Given the description of an element on the screen output the (x, y) to click on. 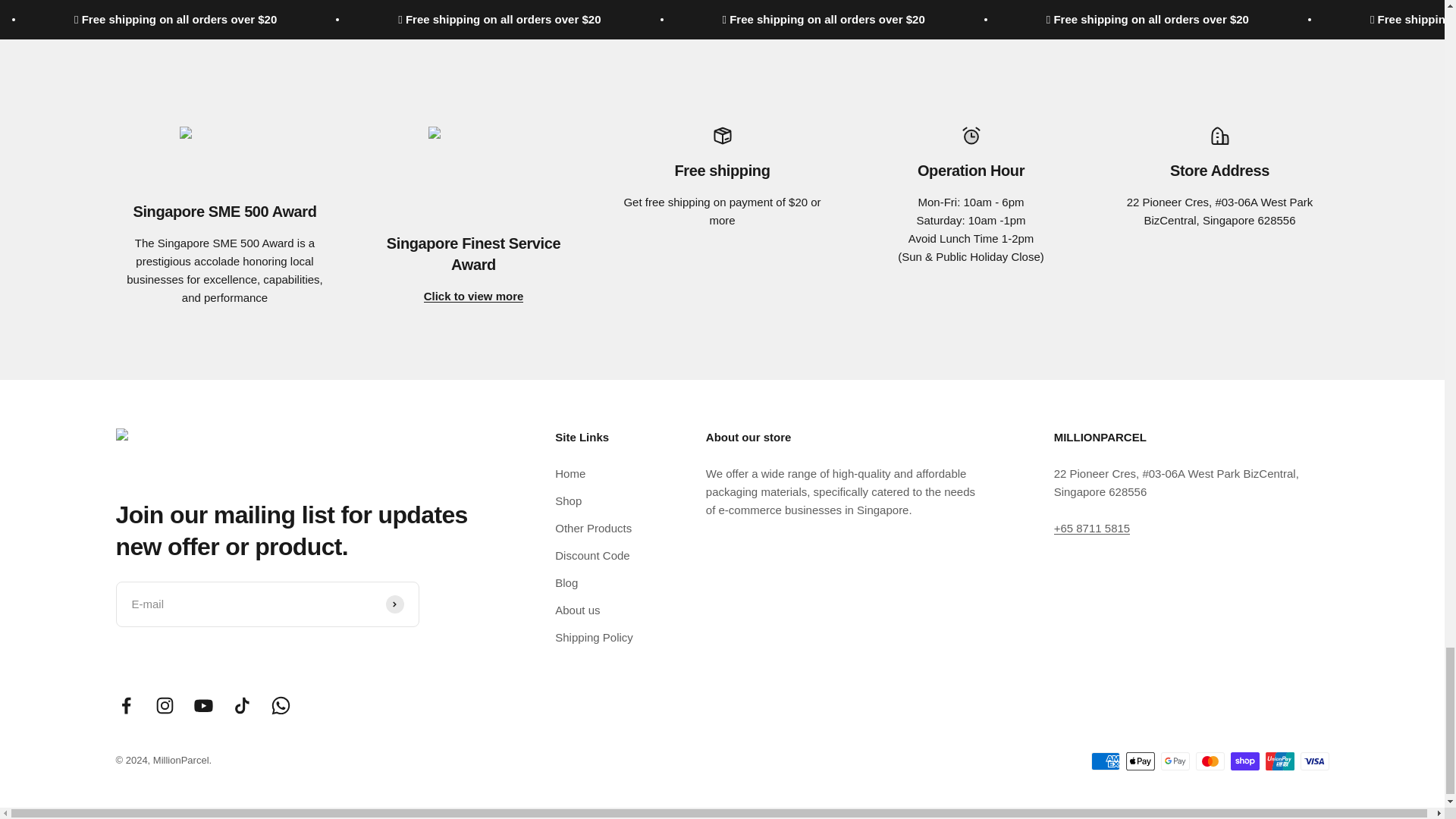
tel:8711 5815 (1092, 527)
